Given the description of an element on the screen output the (x, y) to click on. 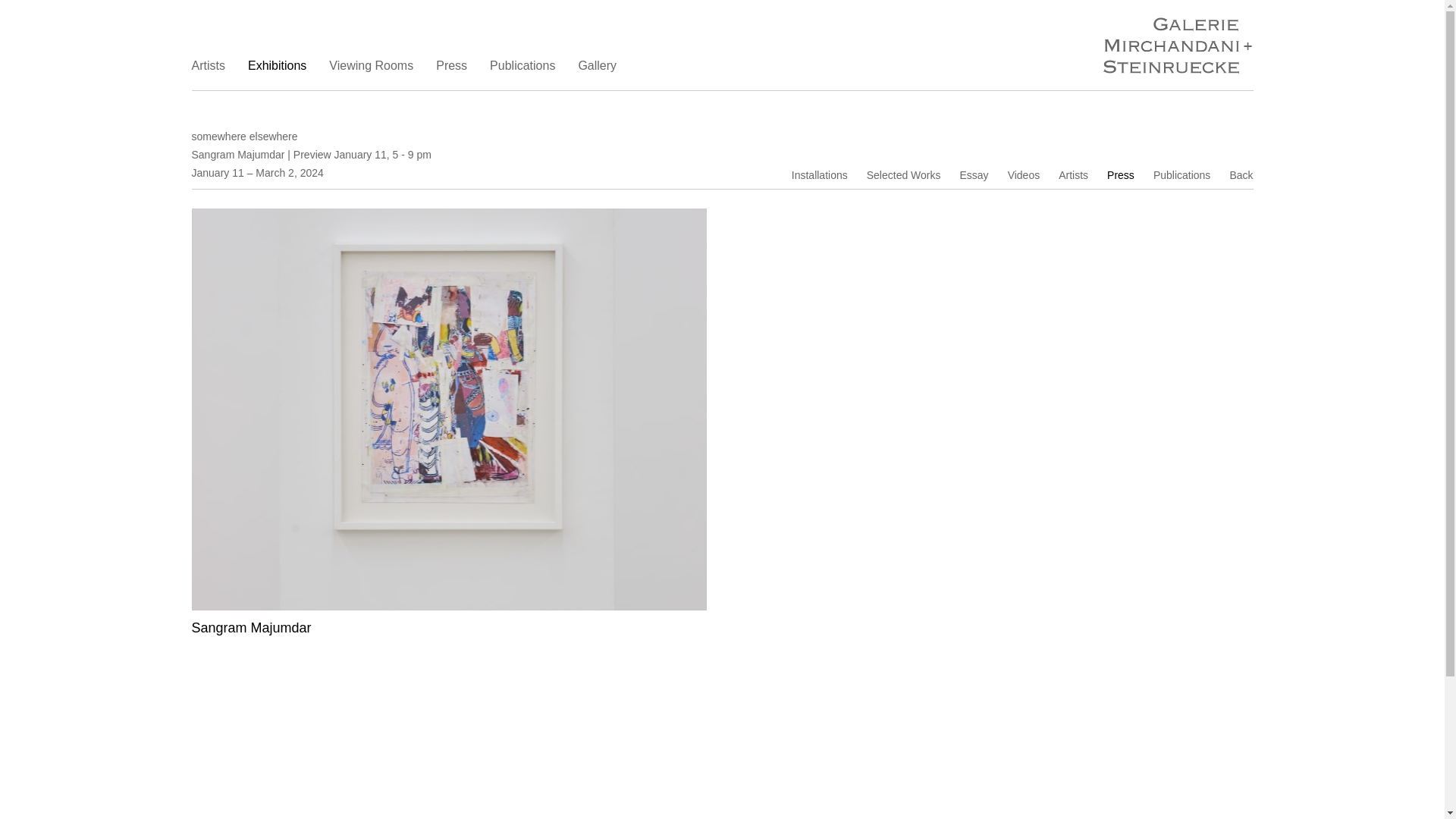
Artists (1072, 174)
Press (1120, 174)
Viewing Rooms (371, 65)
Back (1240, 174)
Publications (1182, 174)
Installations (819, 174)
Artists (207, 65)
Gallery (596, 65)
Press (451, 65)
Selected Works (903, 174)
Videos (1024, 174)
Exhibitions (276, 65)
Publications (521, 65)
Essay (973, 174)
